Given the description of an element on the screen output the (x, y) to click on. 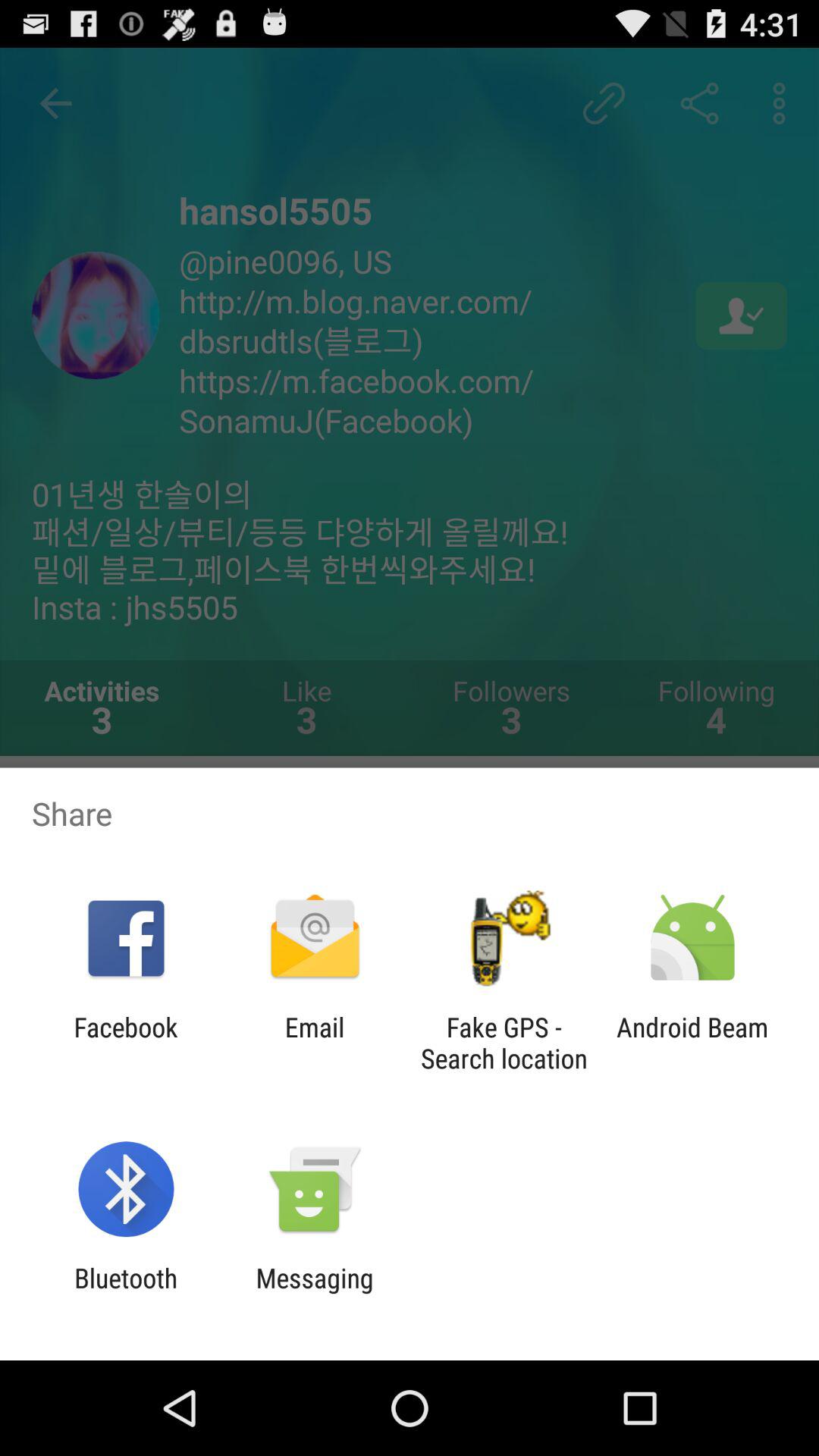
jump to email app (314, 1042)
